Given the description of an element on the screen output the (x, y) to click on. 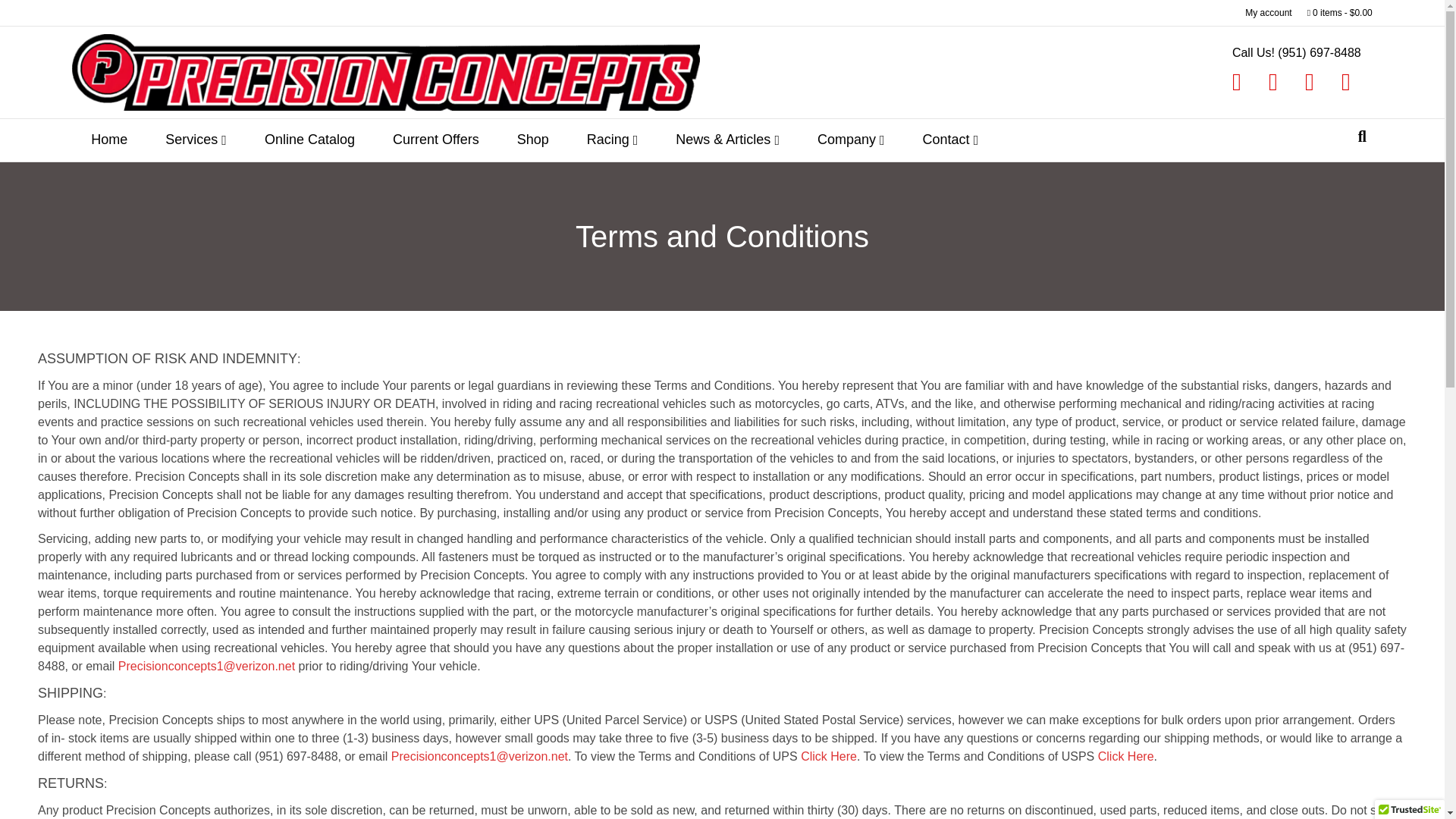
Facebook (1236, 81)
Start shopping (1340, 13)
My account (1267, 13)
